Given the description of an element on the screen output the (x, y) to click on. 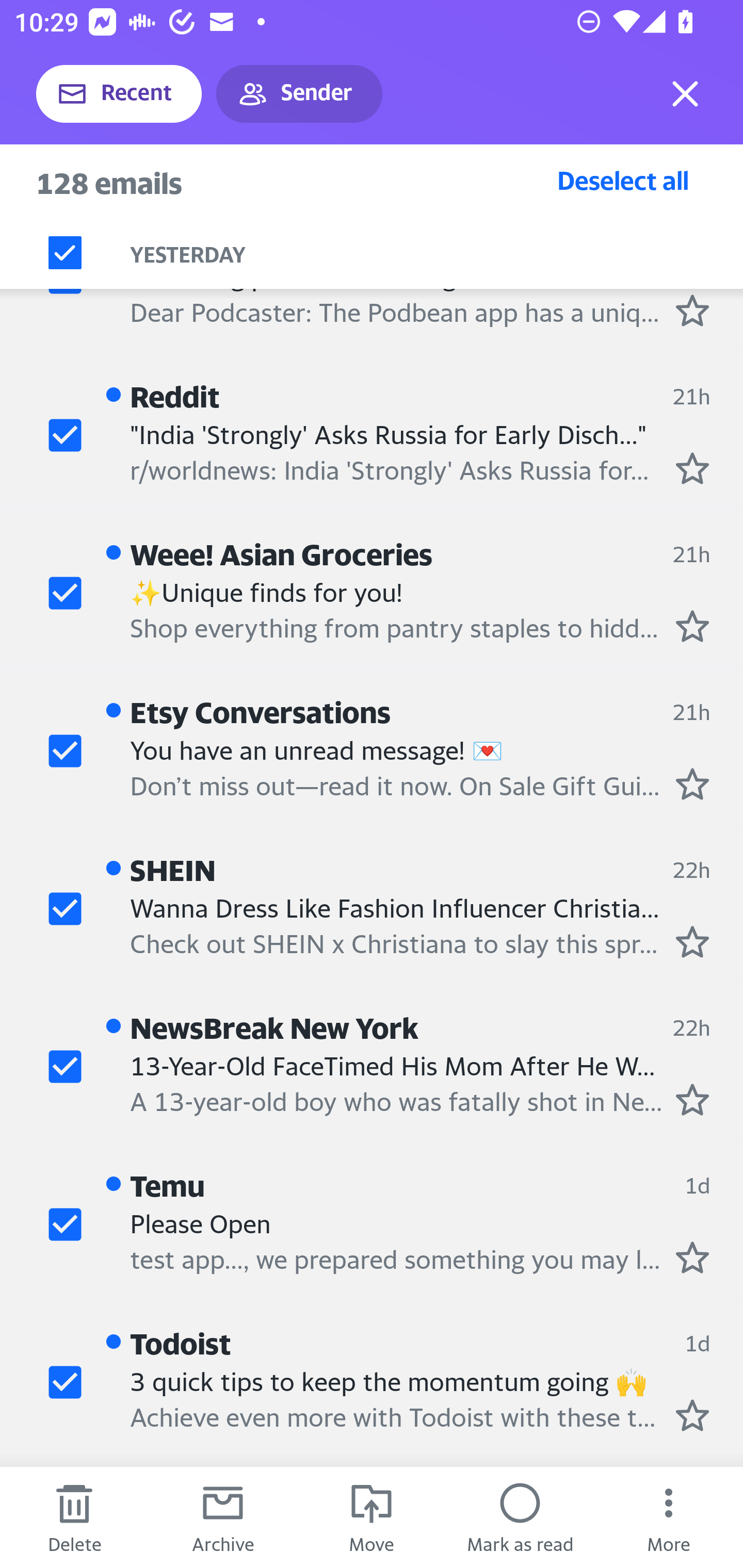
Sender (299, 93)
Exit selection mode (684, 93)
Deselect all (622, 180)
Mark as starred. (692, 311)
Mark as starred. (692, 468)
Mark as starred. (692, 626)
Mark as starred. (692, 783)
Mark as starred. (692, 941)
Mark as starred. (692, 1099)
Mark as starred. (692, 1256)
Mark as starred. (692, 1415)
Delete (74, 1517)
Archive (222, 1517)
Move (371, 1517)
Mark as read (519, 1517)
More (668, 1517)
